Given the description of an element on the screen output the (x, y) to click on. 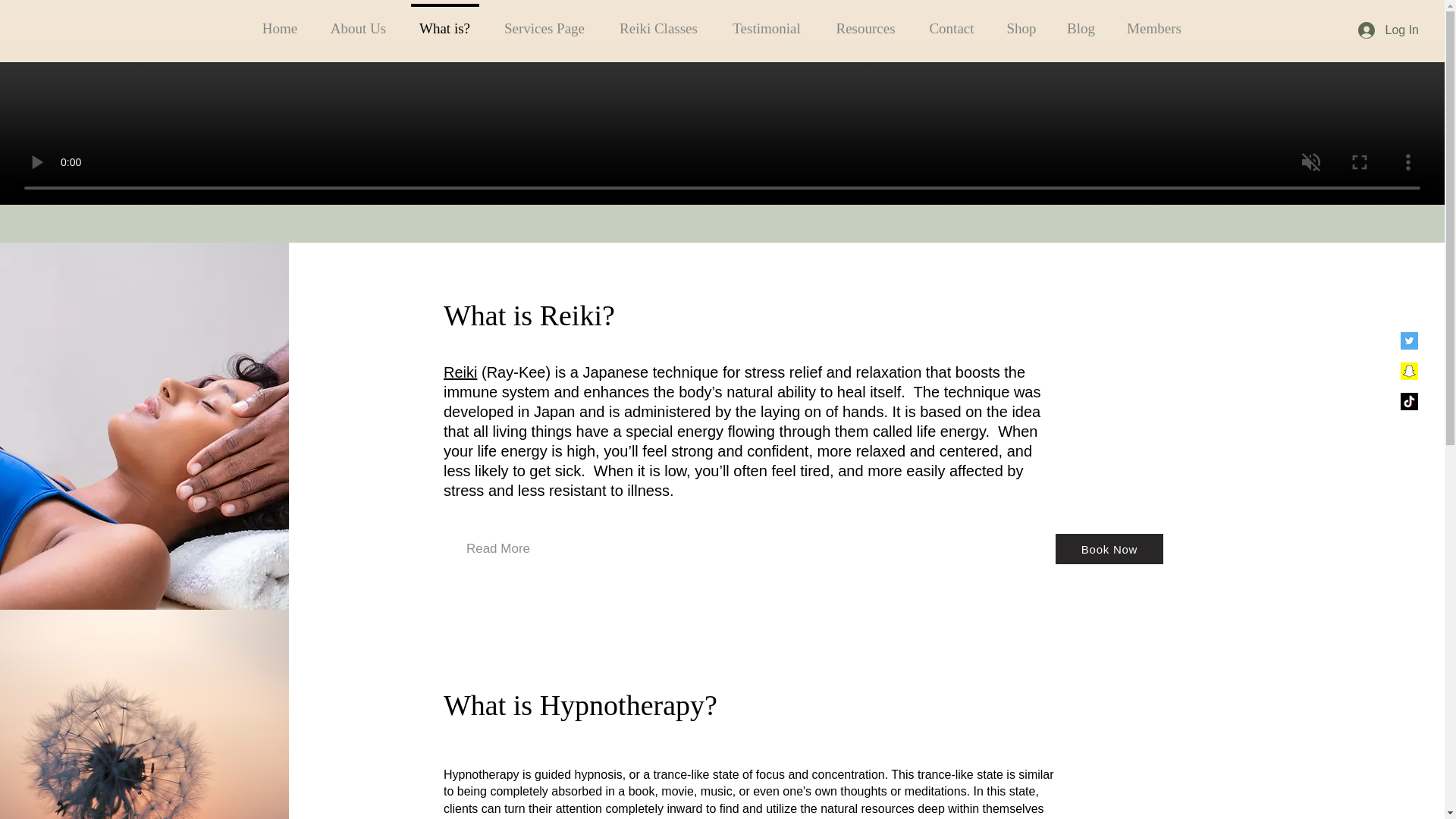
Log In (1388, 30)
Members (1153, 22)
Blog (1080, 22)
Reiki Classes (658, 22)
Reiki (460, 371)
Services Page (544, 22)
What is? (444, 22)
Contact (951, 22)
About Us (358, 22)
Home (279, 22)
Book Now (1109, 548)
Testimonial (766, 22)
Read More (497, 548)
Shop (1020, 22)
Resources (865, 22)
